Given the description of an element on the screen output the (x, y) to click on. 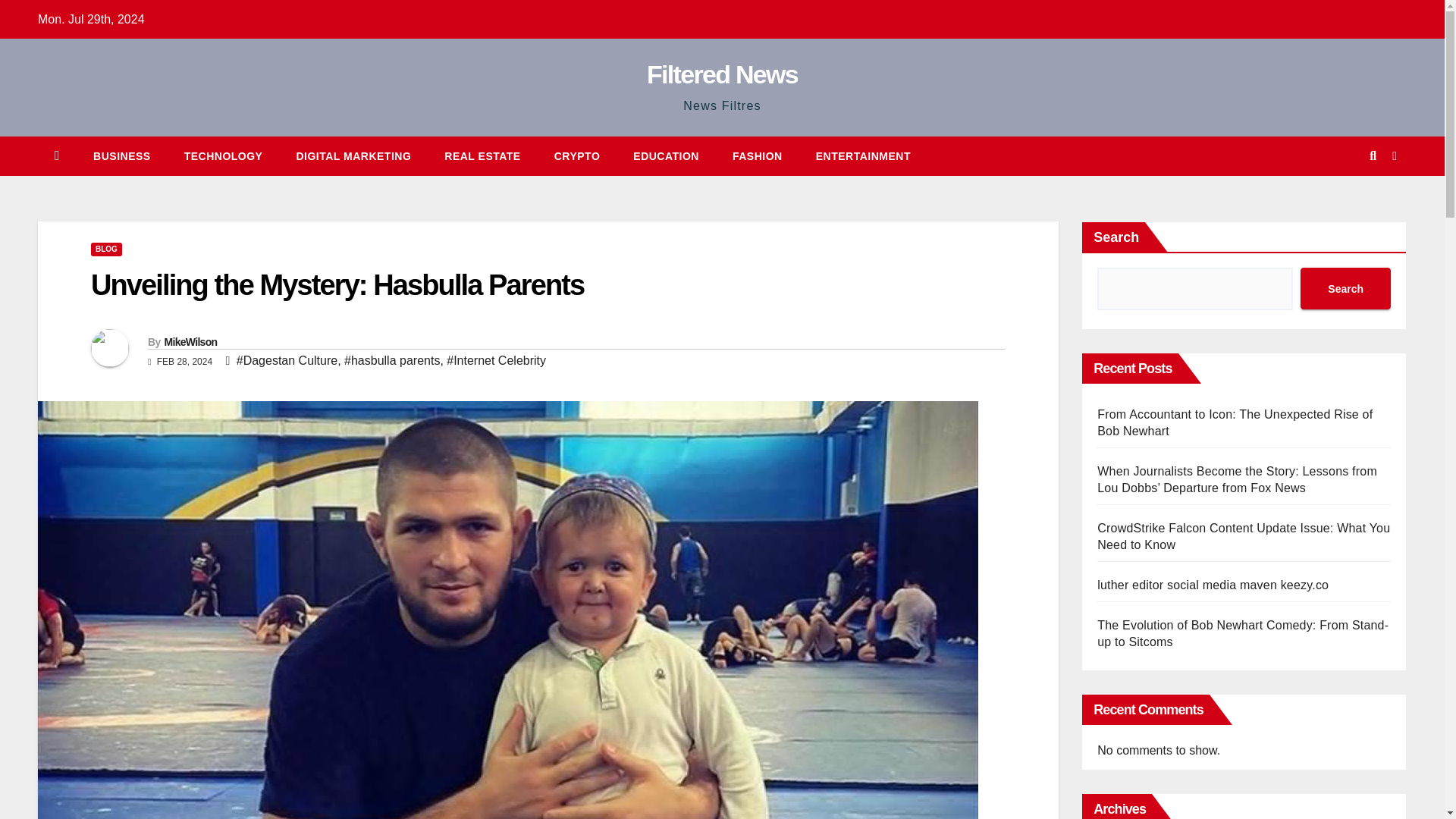
FASHION (757, 156)
BUSINESS (122, 156)
CRYPTO (577, 156)
ENTERTAINMENT (863, 156)
Permalink to: Unveiling the Mystery: Hasbulla Parents (336, 285)
Real Estate (482, 156)
REAL ESTATE (482, 156)
TECHNOLOGY (223, 156)
Filtered News (721, 73)
Fashion (757, 156)
Technology (223, 156)
Entertainment (863, 156)
EDUCATION (665, 156)
Digital Marketing (353, 156)
Business (122, 156)
